Given the description of an element on the screen output the (x, y) to click on. 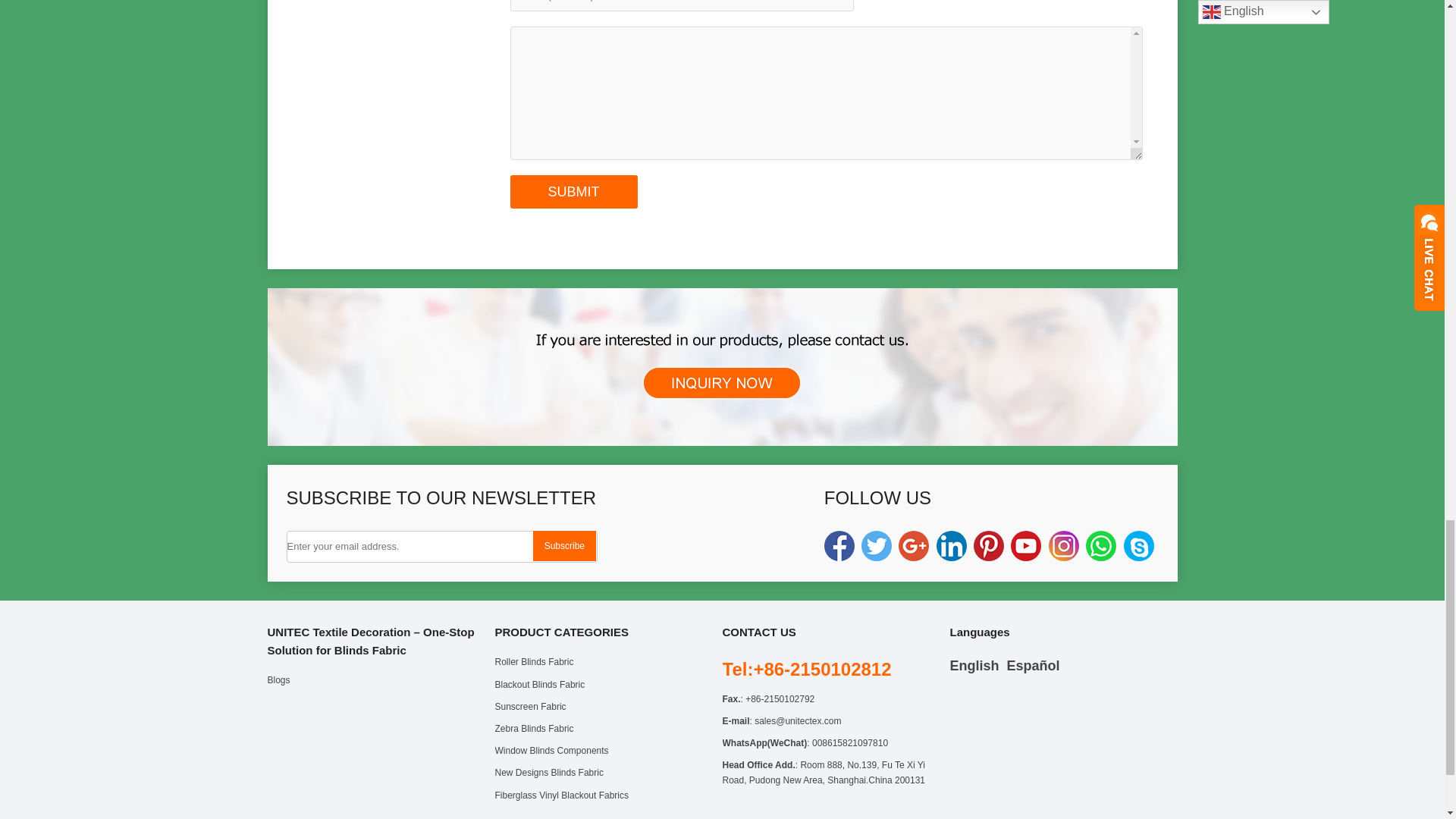
enviar (573, 191)
Twitter (876, 545)
Pinterest (989, 545)
SUBMIT (573, 191)
Facebook (839, 545)
Subscribe (563, 545)
LinkedIn (951, 545)
